Given the description of an element on the screen output the (x, y) to click on. 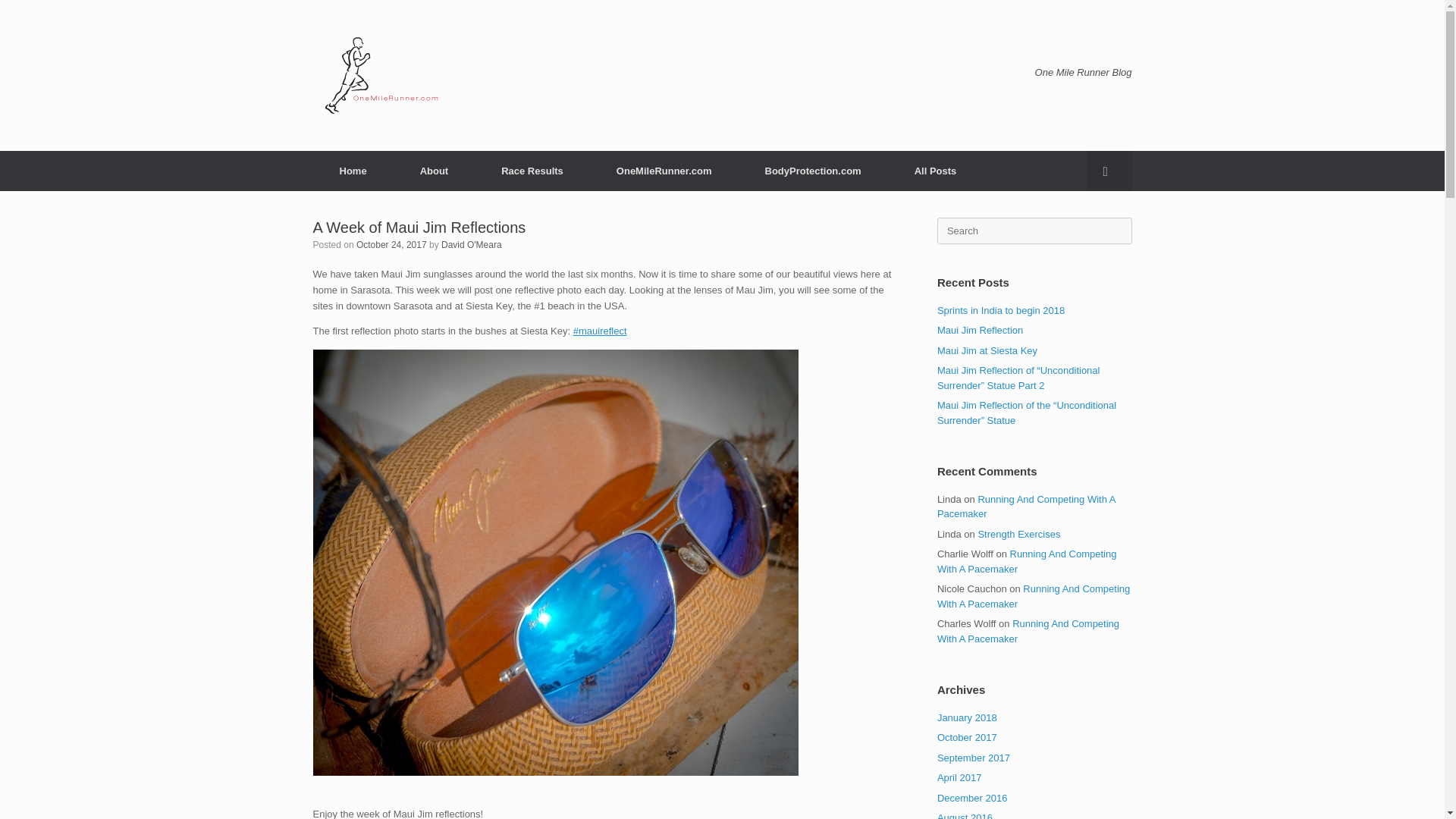
Running And Competing With A Pacemaker (1033, 596)
David O'Meara (471, 244)
Maui Jim Reflection (980, 329)
About (434, 170)
January 2018 (967, 716)
Home (353, 170)
October 24, 2017 (391, 244)
Strength Exercises (1017, 532)
One Mile Runner Blog (380, 75)
October 2017 (967, 737)
Maui Jim at Siesta Key (986, 349)
Sprints in India to begin 2018 (1000, 310)
Running And Competing With A Pacemaker (1028, 631)
Running And Competing With A Pacemaker (1026, 506)
View all posts by David O'Meara (471, 244)
